Given the description of an element on the screen output the (x, y) to click on. 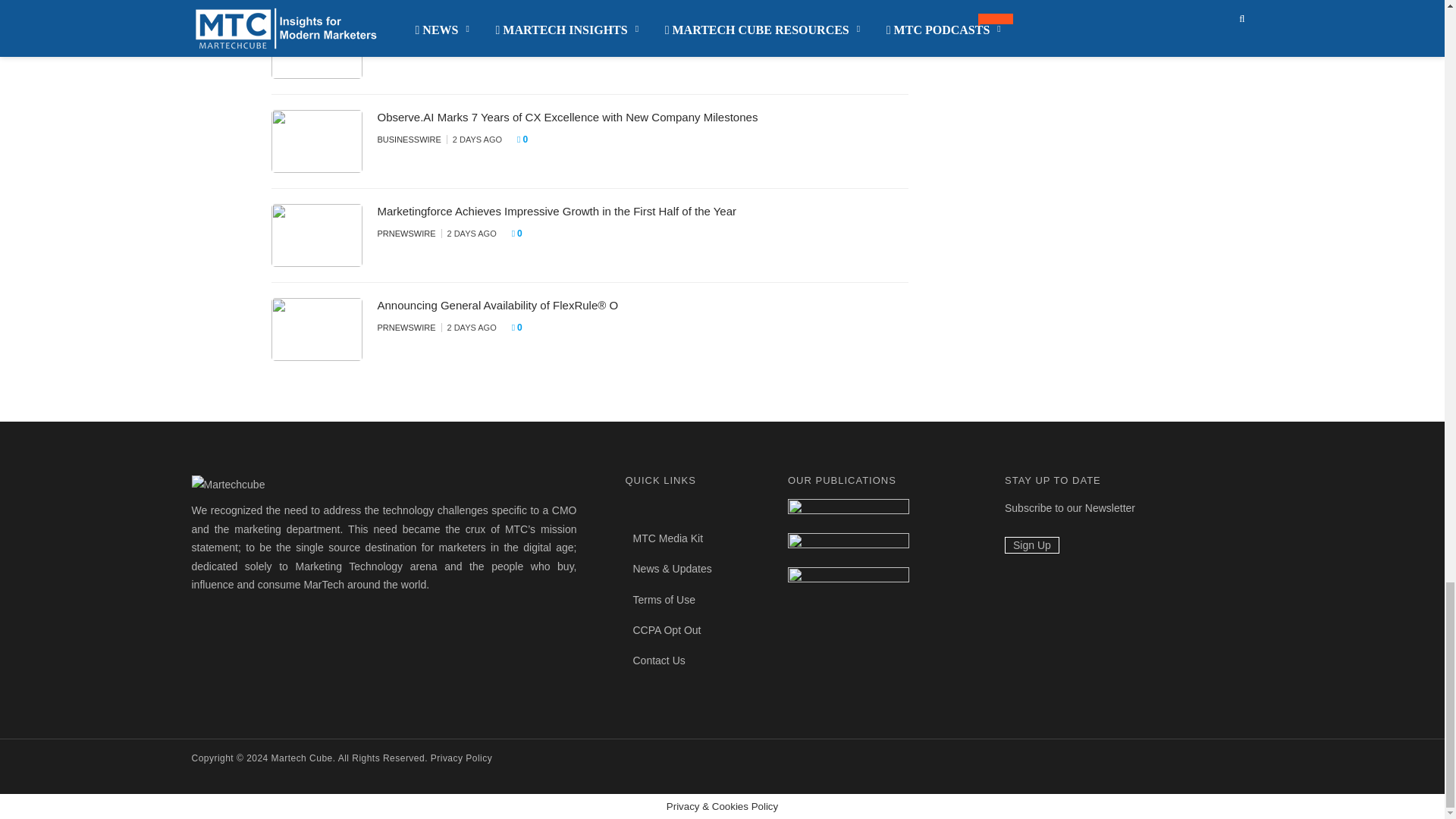
Comments (526, 139)
View all posts by BusinessWire (409, 139)
Comments (538, 45)
View all posts by GlobeNewswire (414, 44)
